Given the description of an element on the screen output the (x, y) to click on. 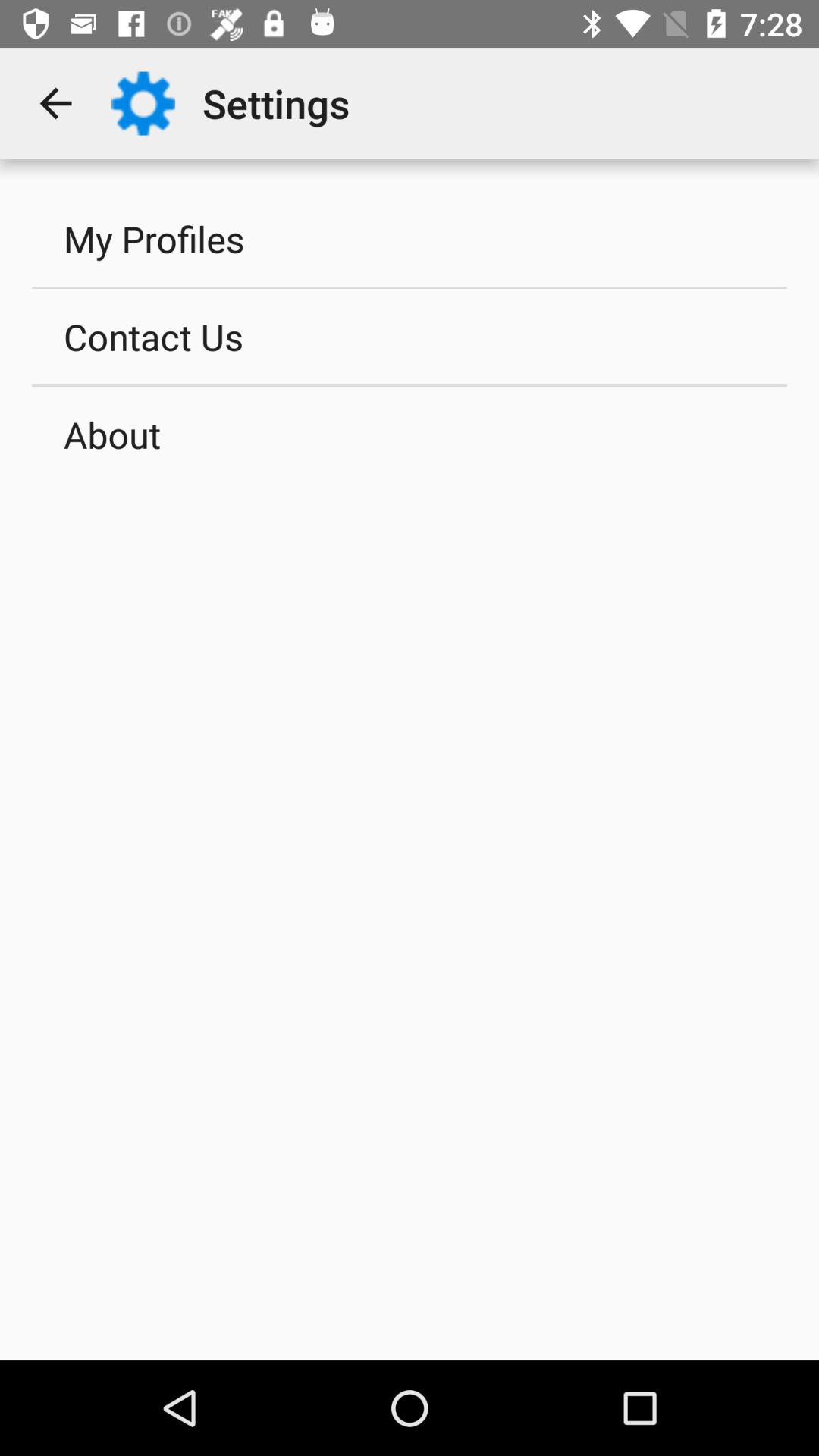
tap the icon above about icon (409, 336)
